Given the description of an element on the screen output the (x, y) to click on. 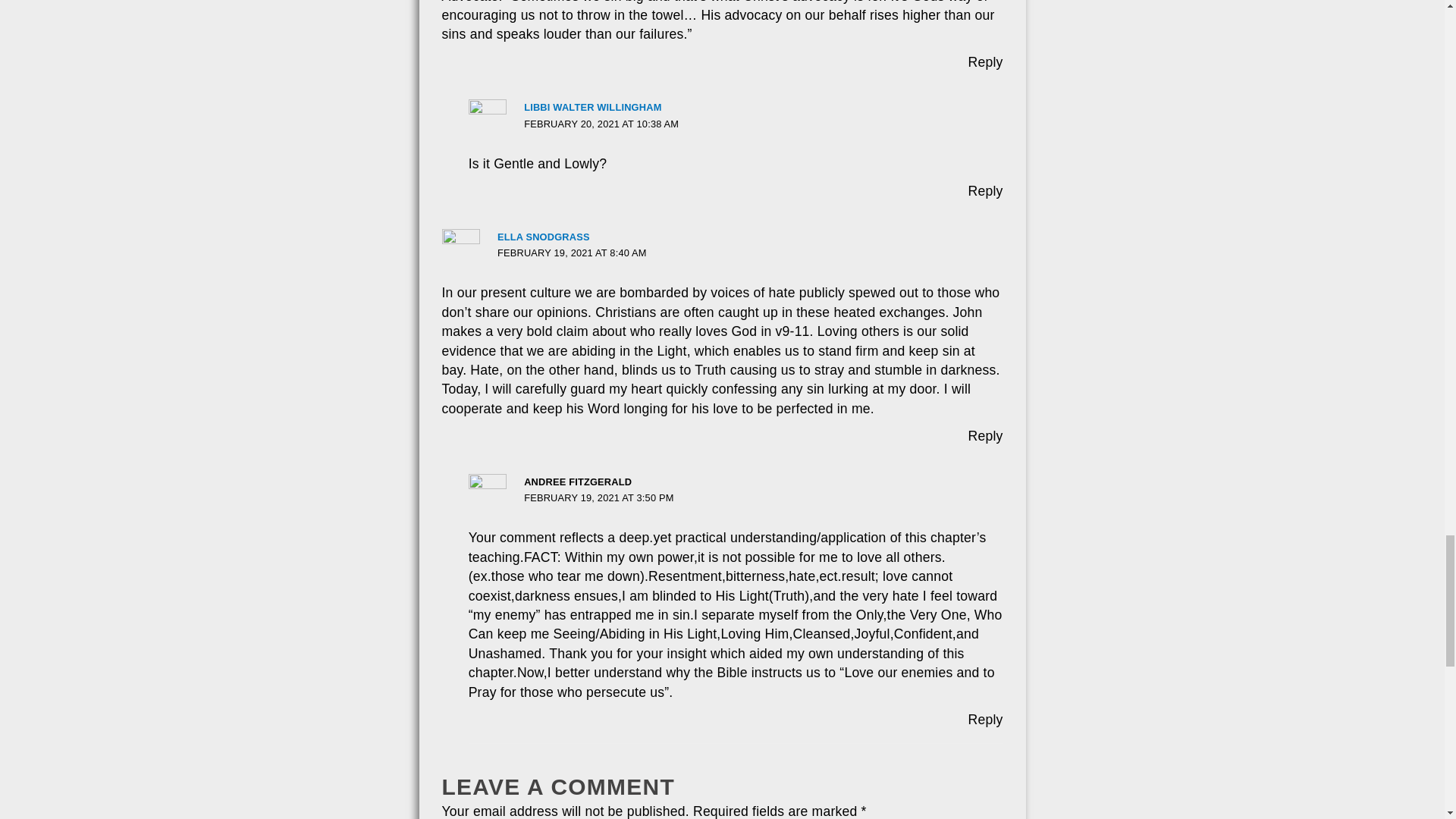
ANDREE FITZGERALD (577, 481)
FEBRUARY 20, 2021 AT 10:38 AM (601, 123)
Reply (985, 435)
FEBRUARY 19, 2021 AT 8:40 AM (571, 252)
Reply (985, 61)
Reply (985, 719)
Reply (985, 191)
FEBRUARY 19, 2021 AT 3:50 PM (598, 497)
